Given the description of an element on the screen output the (x, y) to click on. 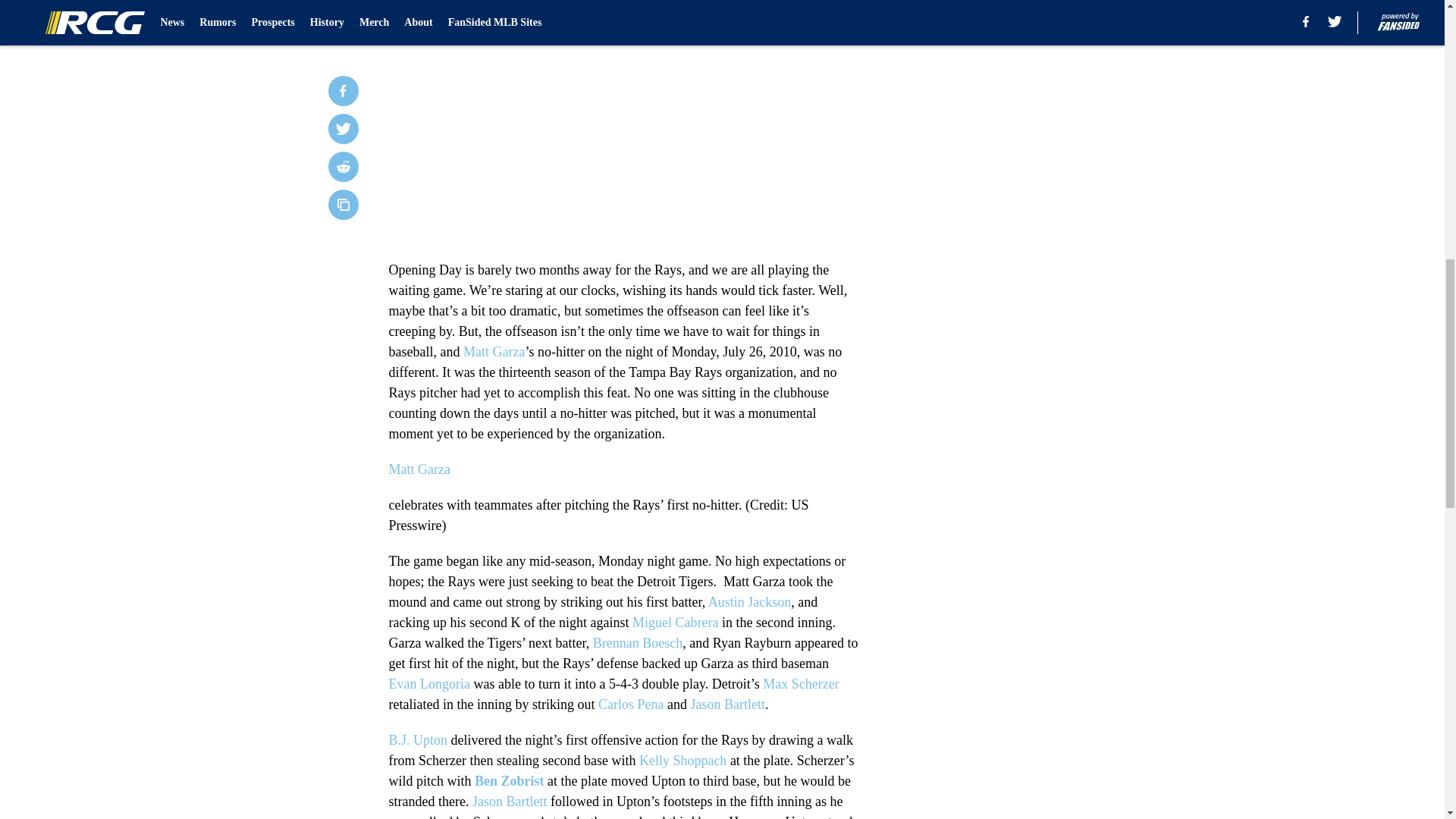
Carlos Pena (630, 703)
Ben Zobrist (509, 780)
Evan Longoria (428, 683)
Miguel Cabrera (674, 622)
Jason Bartlett (509, 801)
Austin Jackson (749, 601)
Kelly Shoppach (682, 760)
Max Scherzer (800, 683)
Jason Bartlett (727, 703)
B.J. Upton (417, 739)
Matt Garza (493, 351)
Brennan Boesch (637, 642)
Matt Garza (418, 468)
